Given the description of an element on the screen output the (x, y) to click on. 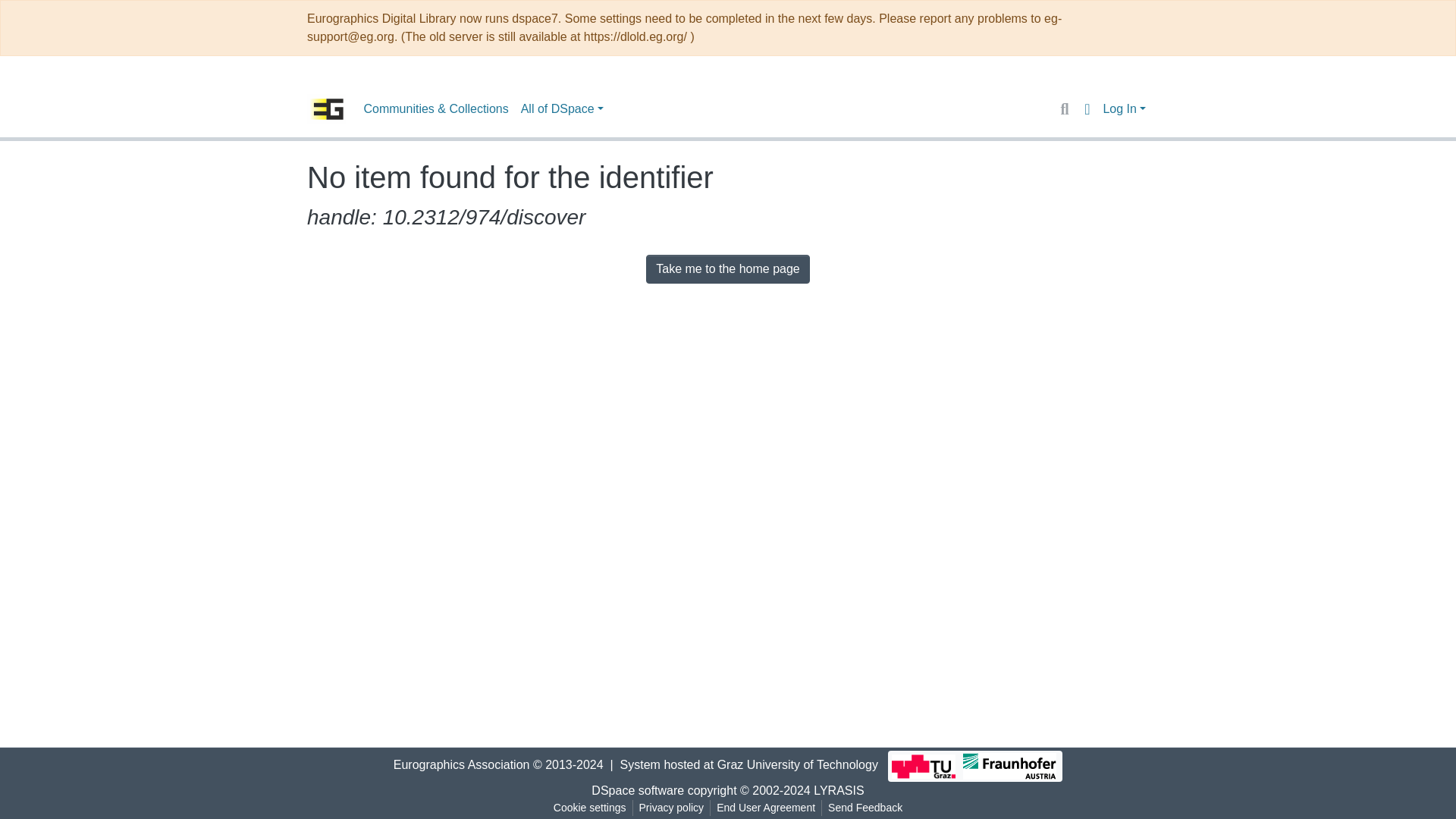
Privacy policy (671, 807)
End User Agreement (765, 807)
DSpace software (637, 789)
LYRASIS (838, 789)
Take me to the home page (727, 268)
Eurographics Association (461, 764)
Language switch (1086, 108)
Graz University of Technology (797, 764)
Log In (1123, 108)
All of DSpace (562, 109)
Cookie settings (589, 807)
Send Feedback (865, 807)
Search (1064, 108)
